Given the description of an element on the screen output the (x, y) to click on. 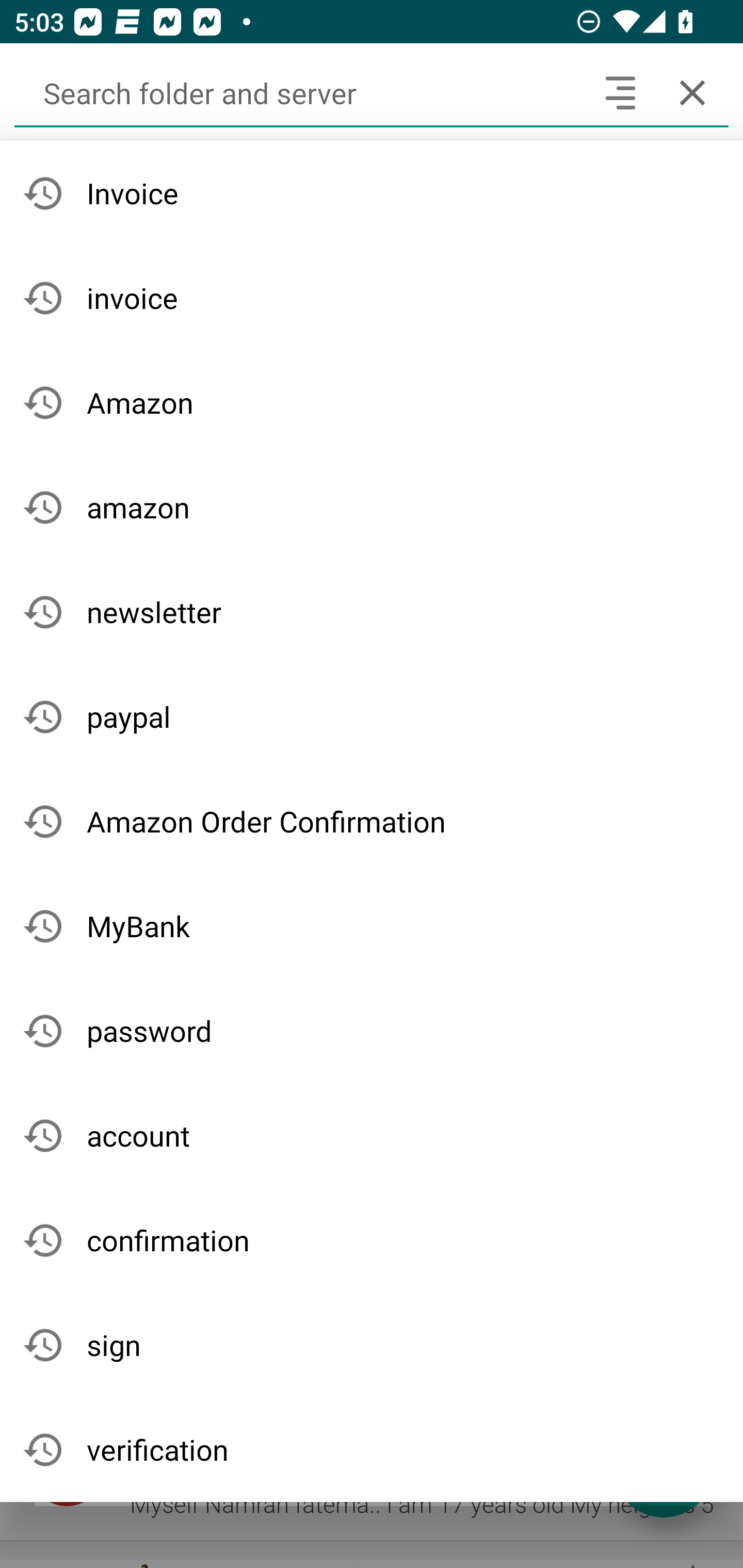
   Search folder and server (298, 92)
Search headers and text (619, 92)
Cancel (692, 92)
